Given the description of an element on the screen output the (x, y) to click on. 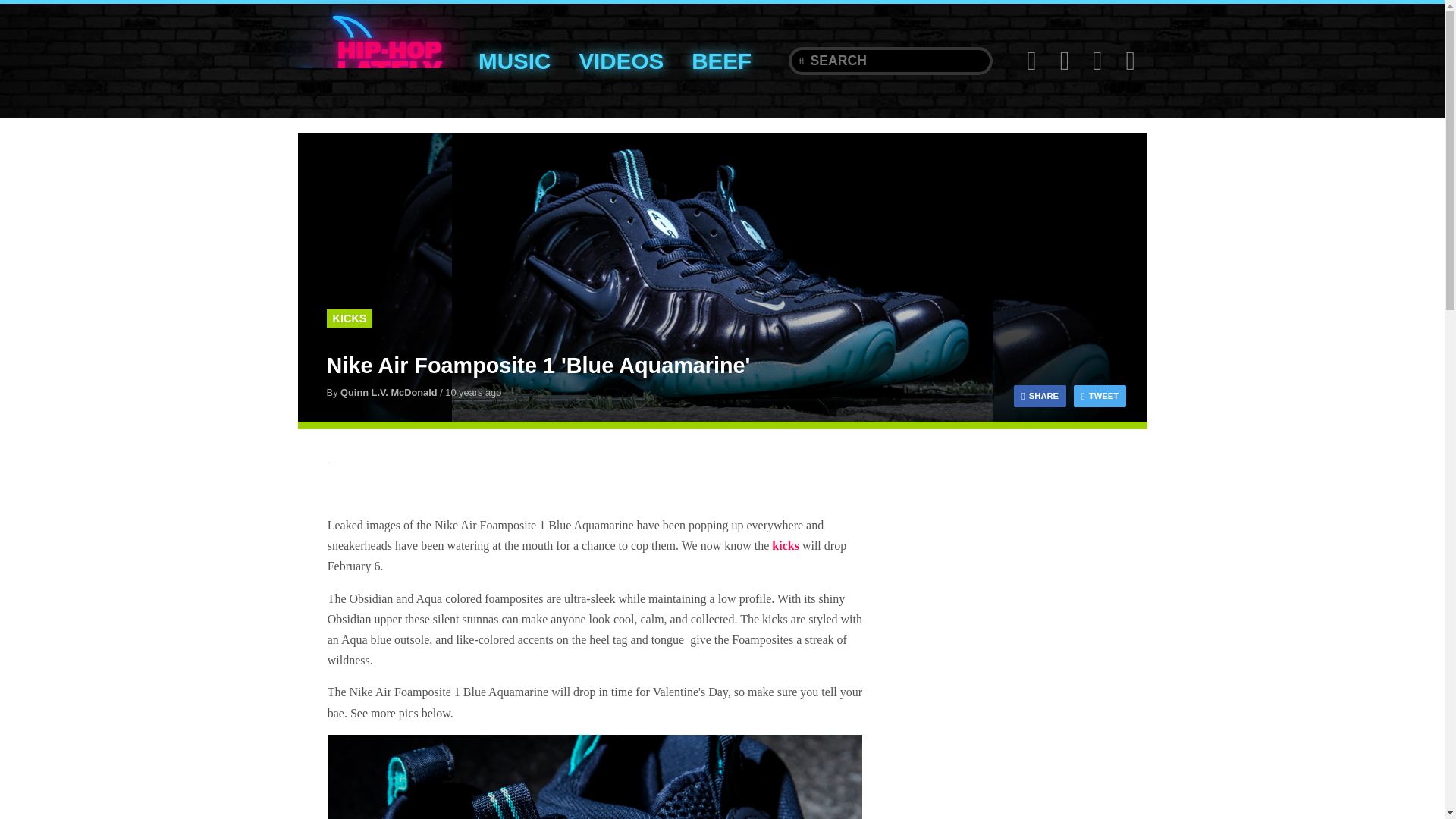
TWEET (1099, 395)
VIDEOS (621, 61)
Quinn L.V. McDonald (389, 392)
SHARE (1039, 395)
MUSIC (514, 61)
BEEF (721, 61)
kicks (785, 545)
